Given the description of an element on the screen output the (x, y) to click on. 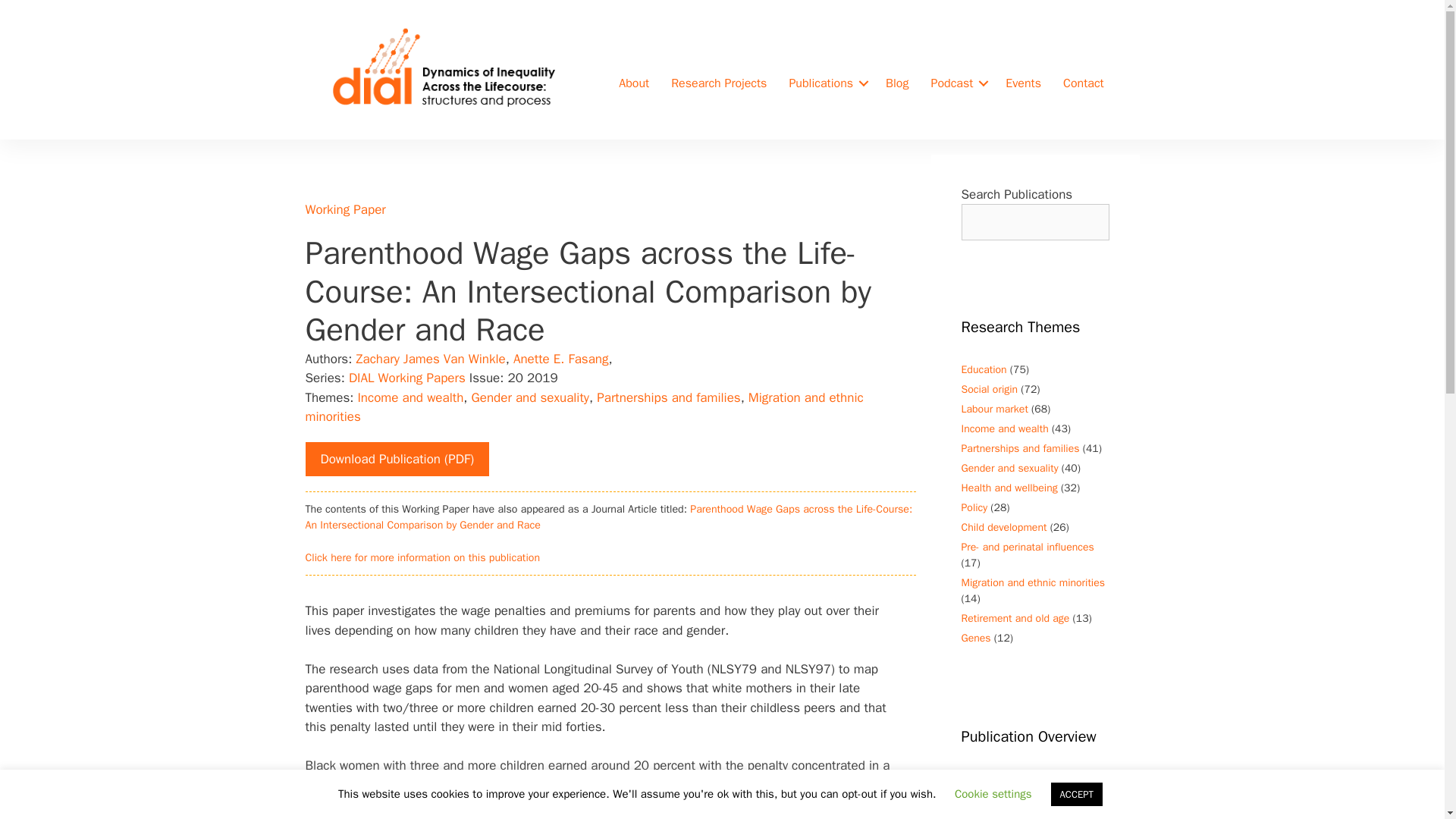
Income and wealth (409, 397)
Labour market (993, 408)
Health and wellbeing (1009, 487)
Podcast (957, 82)
Blog (896, 82)
Education (983, 369)
Gender and sexuality (530, 397)
Events (1022, 82)
About (633, 82)
